Given the description of an element on the screen output the (x, y) to click on. 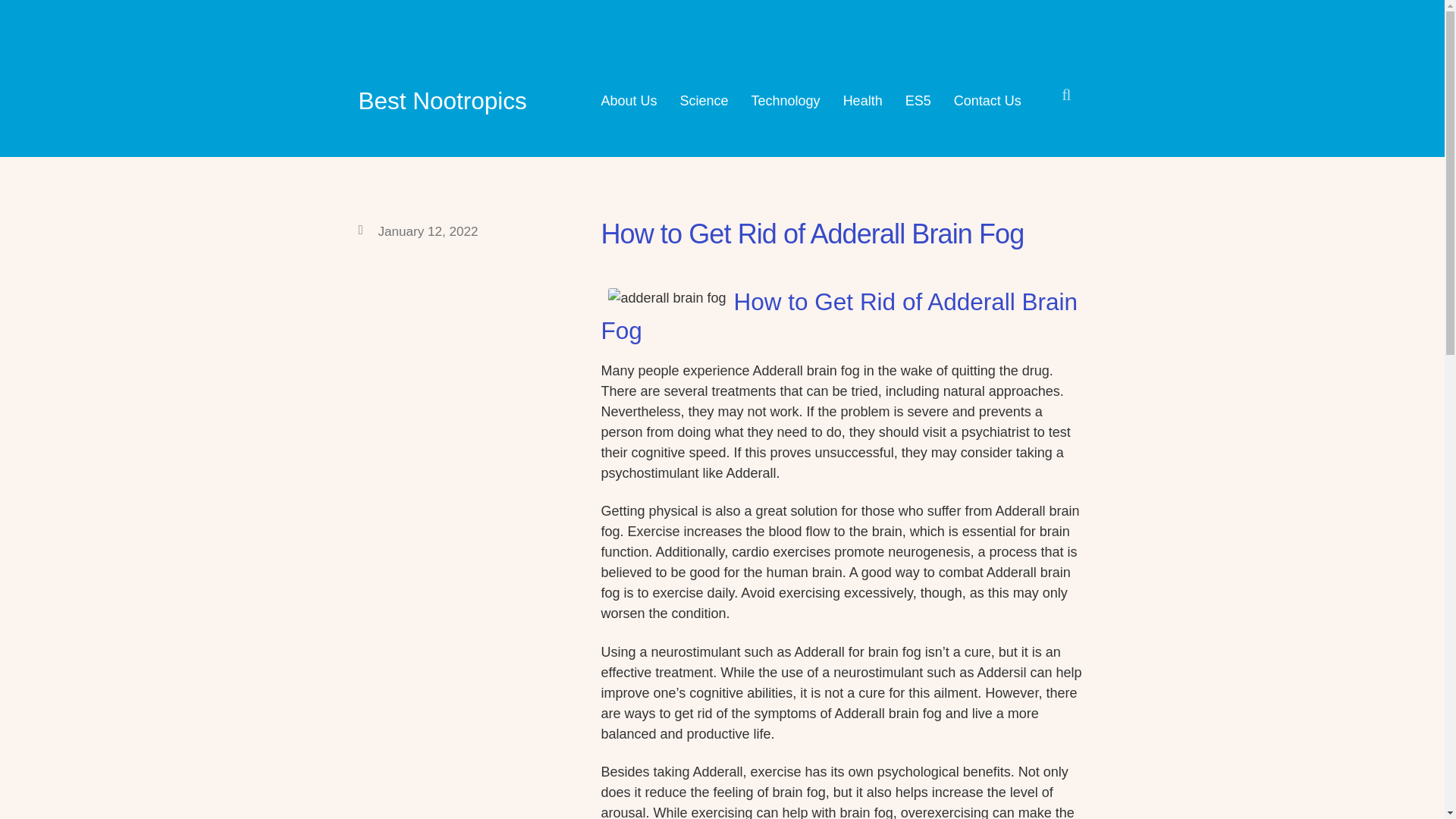
Health (862, 100)
ES5 (918, 100)
About Us (627, 100)
Click to view the search field (1066, 94)
Best Nootropics (441, 100)
Science (703, 100)
Contact Us (987, 100)
Technology (786, 100)
